Given the description of an element on the screen output the (x, y) to click on. 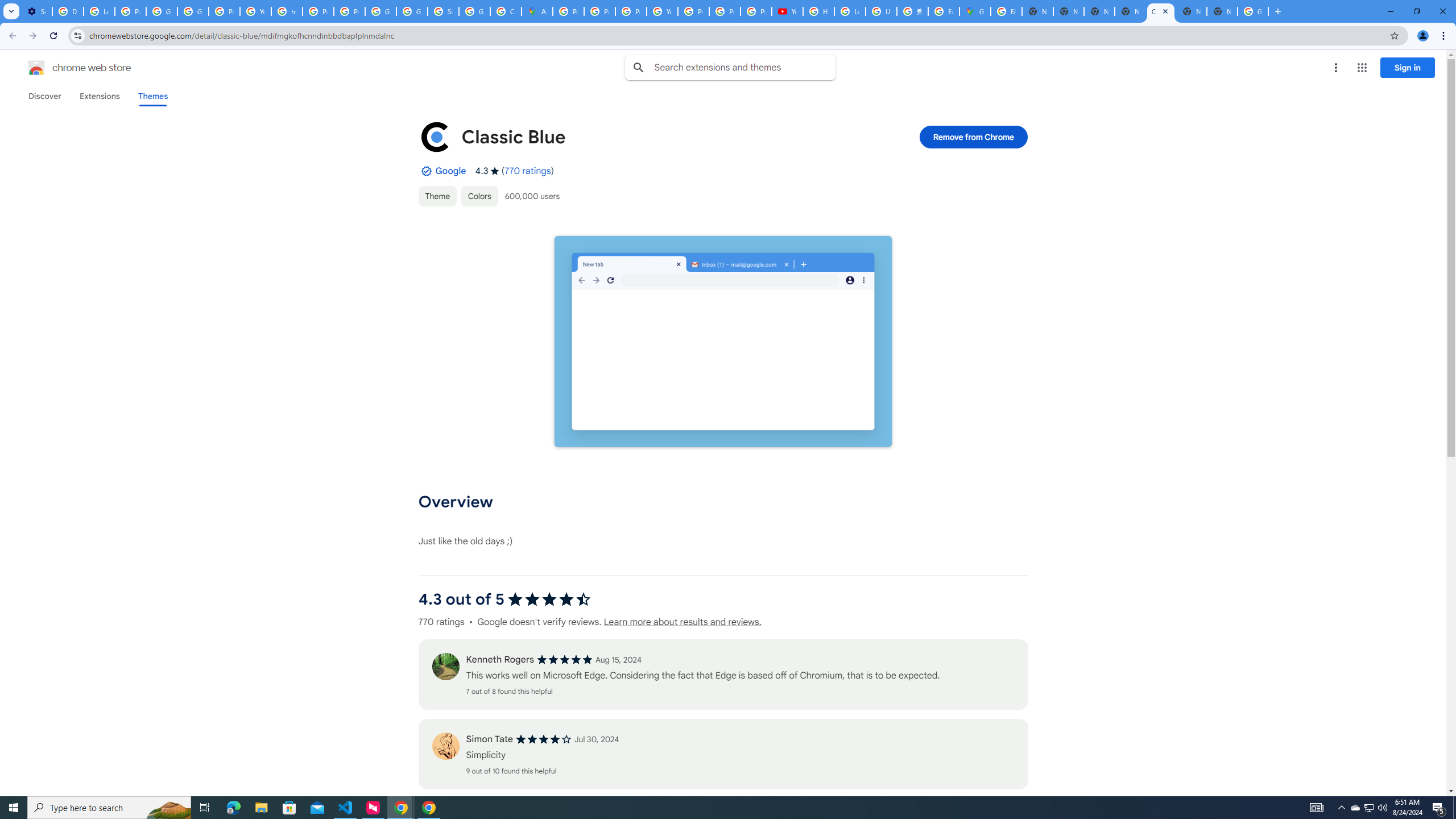
Privacy Checkup (724, 11)
Item media 1 screenshot (723, 342)
5 out of 5 stars (563, 659)
Chrome Web Store logo (36, 67)
Theme (437, 195)
More options menu (1335, 67)
Item logo image for Classic Blue (434, 136)
